Given the description of an element on the screen output the (x, y) to click on. 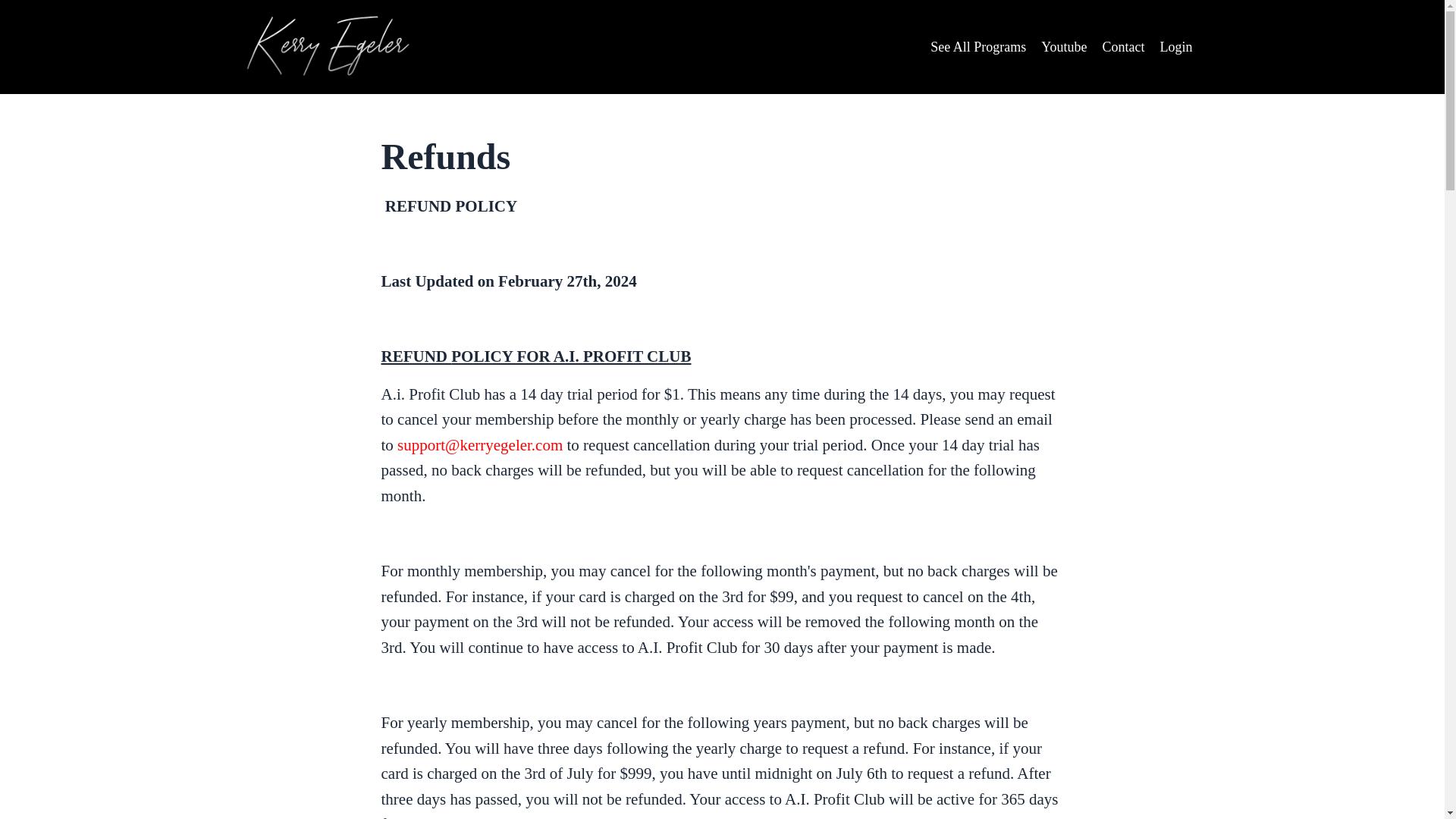
See All Programs (978, 47)
Contact (1123, 47)
Youtube (1063, 47)
Login (1176, 46)
